Given the description of an element on the screen output the (x, y) to click on. 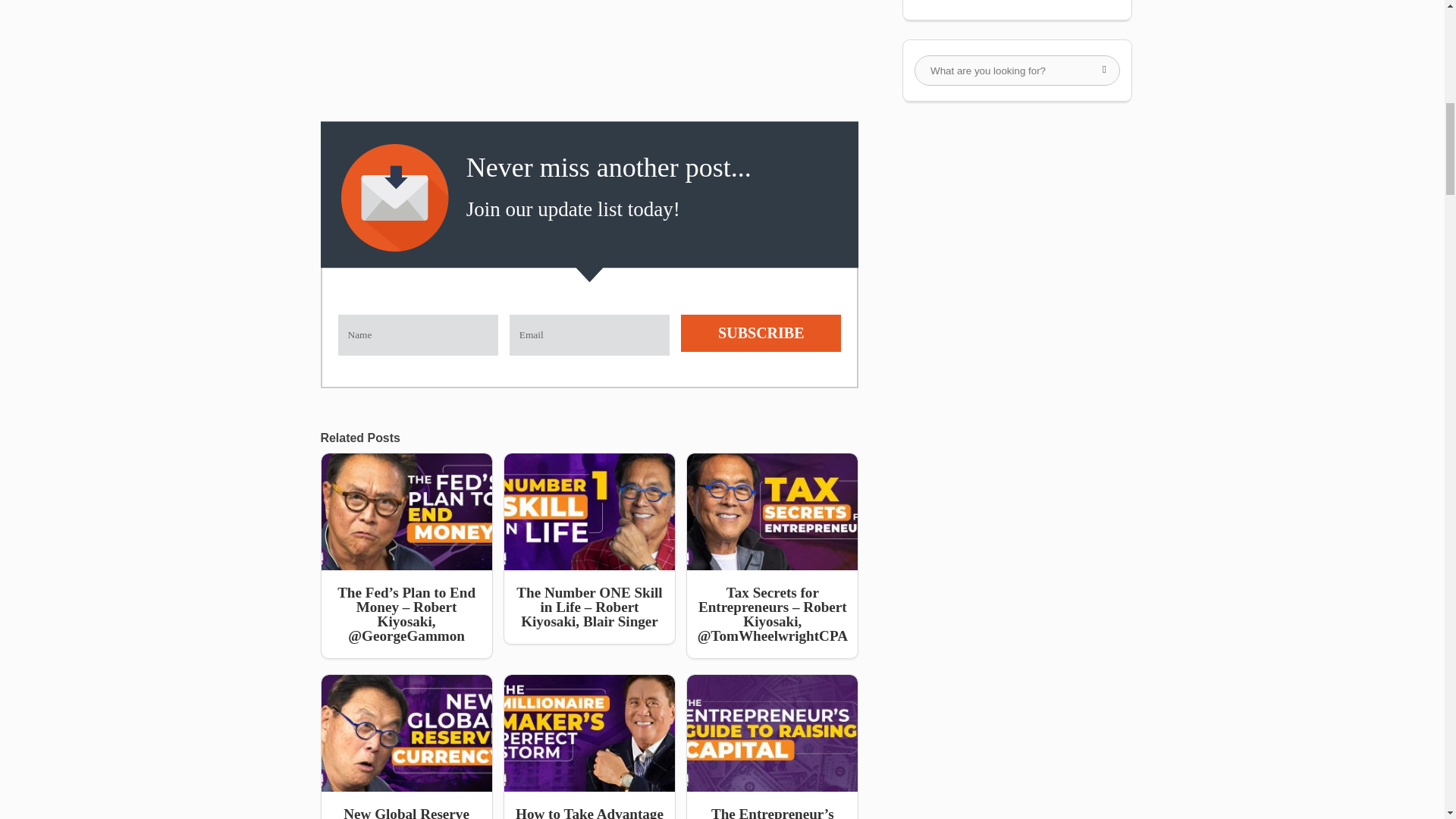
SUBSCRIBE (761, 333)
